Given the description of an element on the screen output the (x, y) to click on. 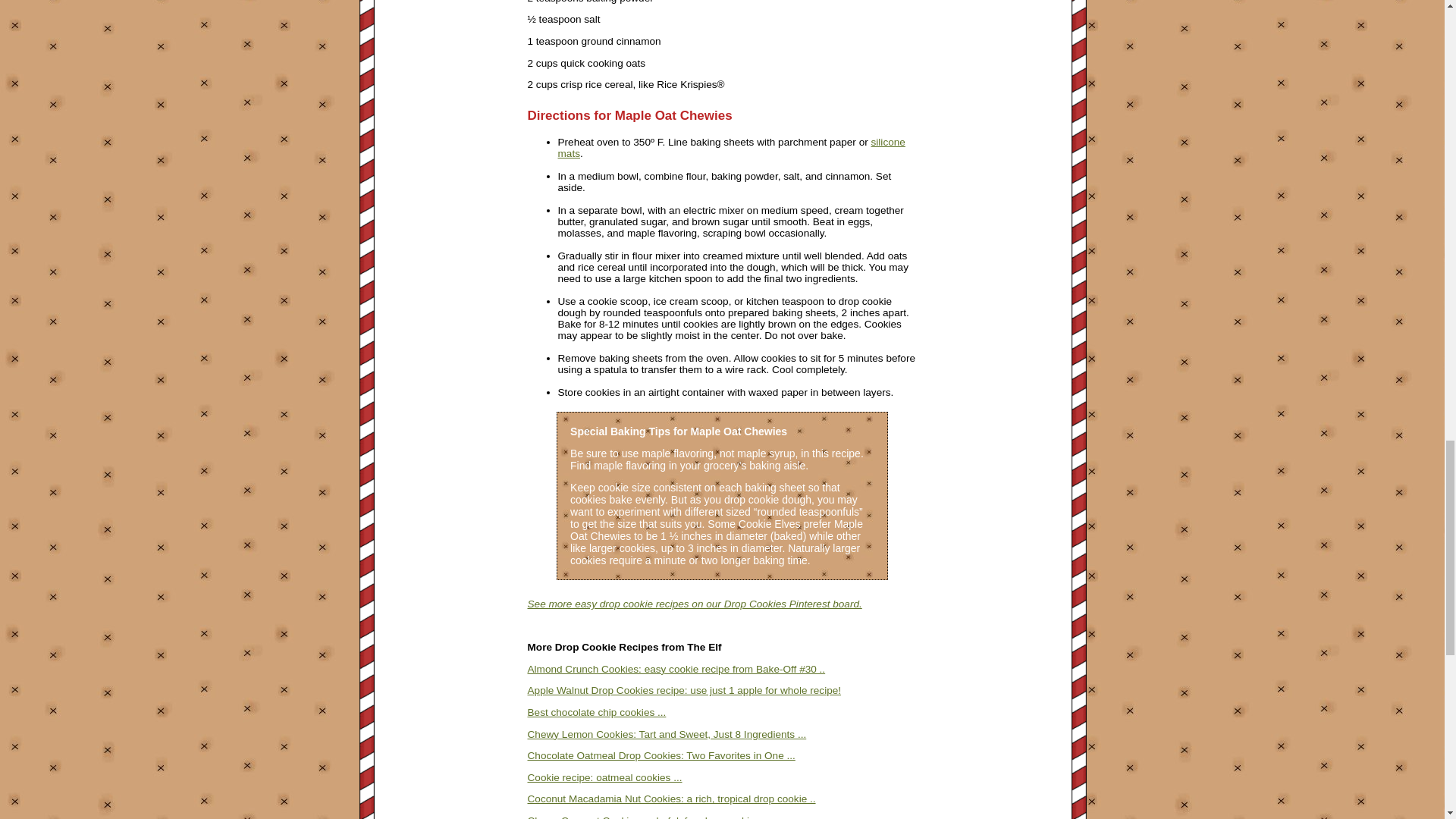
silicone mats (731, 147)
Best chocolate chip cookies ... (596, 712)
Chocolate Oatmeal Drop Cookies: Two Favorites in One ... (660, 755)
Cookie recipe: oatmeal cookies ... (604, 777)
Cherry Coconut Cookies: colorful, fun drop cookies ... (649, 816)
Chewy Lemon Cookies: Tart and Sweet, Just 8 Ingredients ... (666, 734)
